Given the description of an element on the screen output the (x, y) to click on. 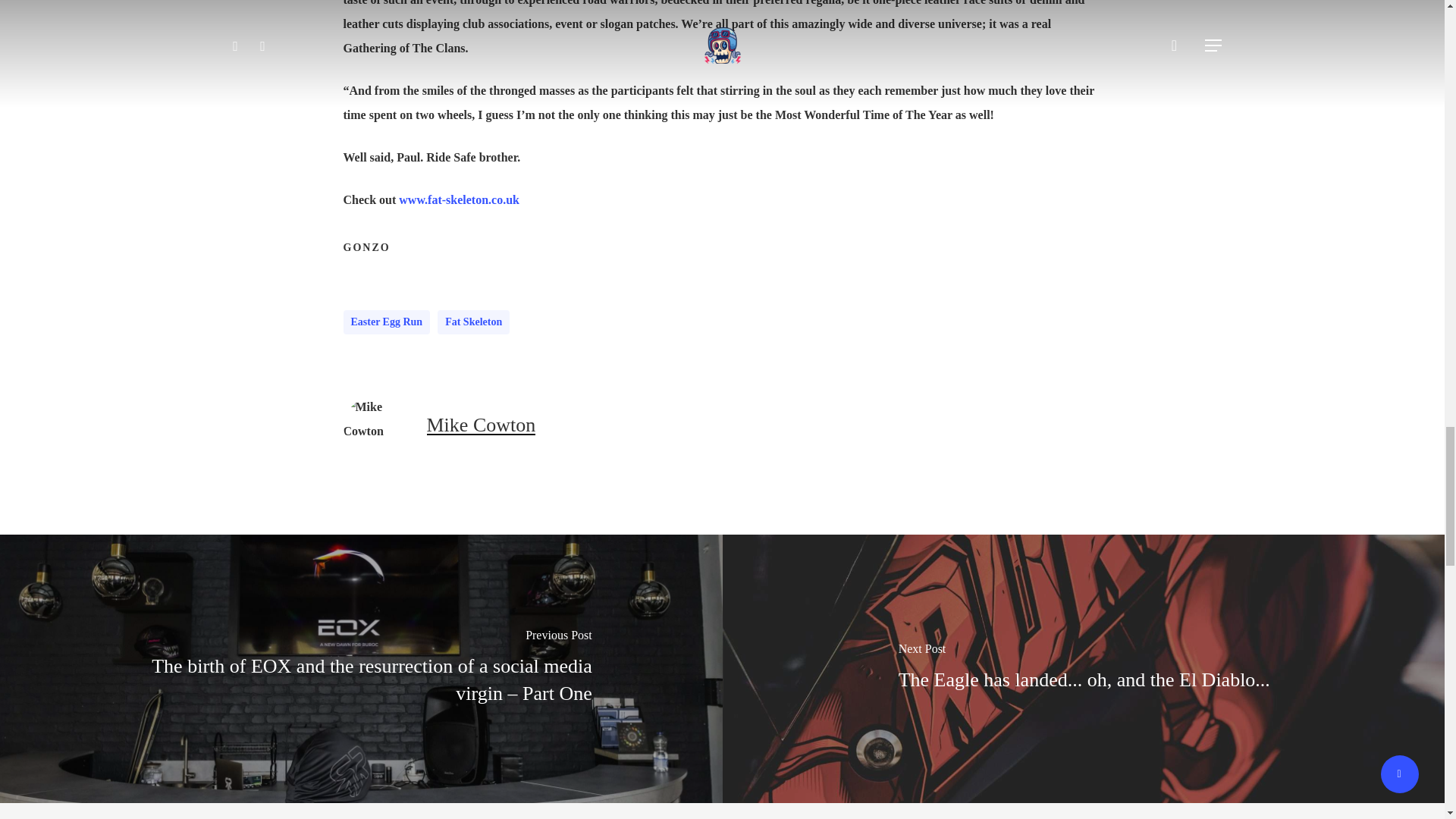
Easter Egg Run (385, 322)
www.fat-skeleton.co.uk (458, 199)
Mike Cowton (480, 424)
Fat Skeleton (473, 322)
